Given the description of an element on the screen output the (x, y) to click on. 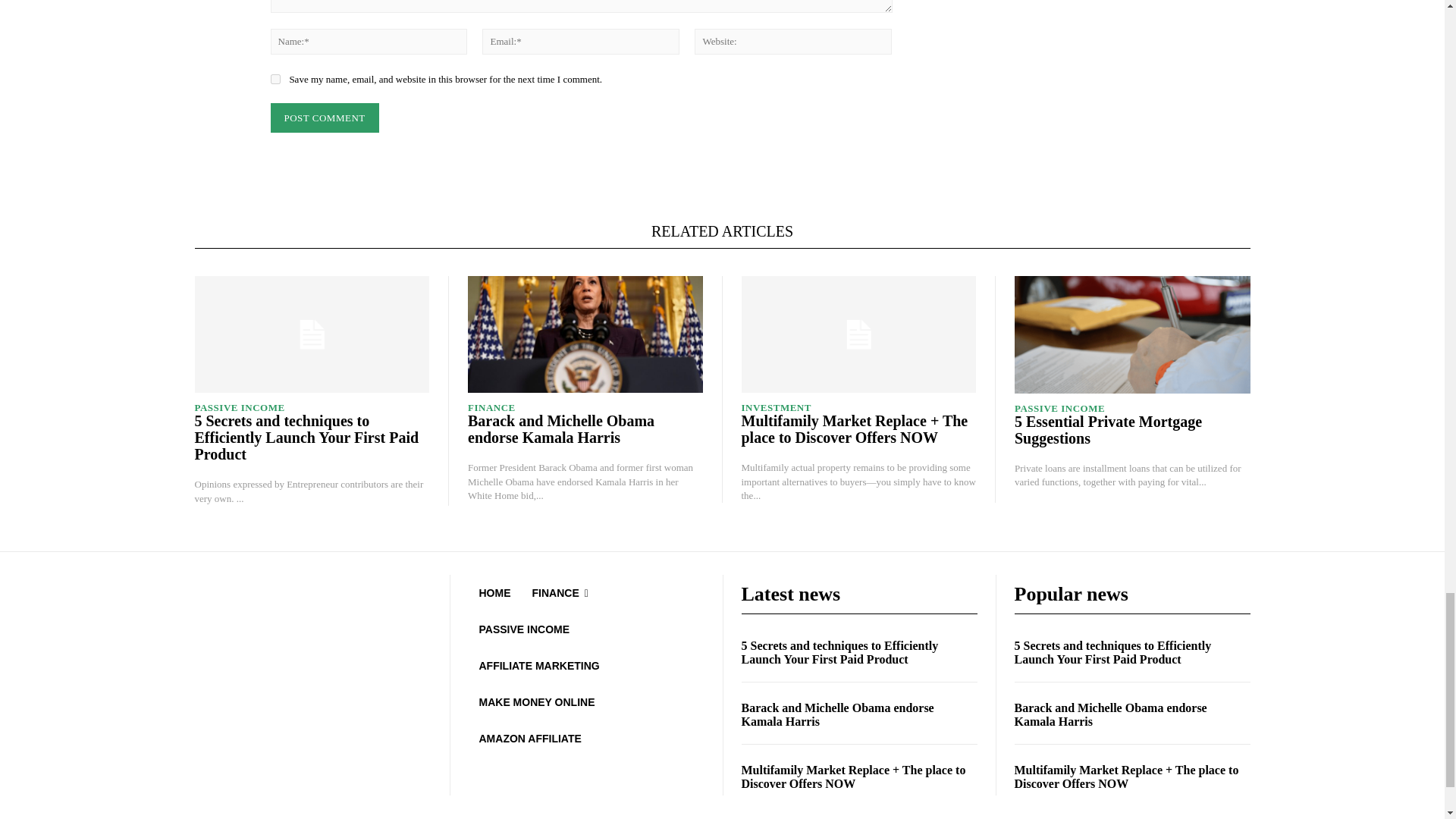
yes (274, 79)
Post Comment (323, 117)
